Given the description of an element on the screen output the (x, y) to click on. 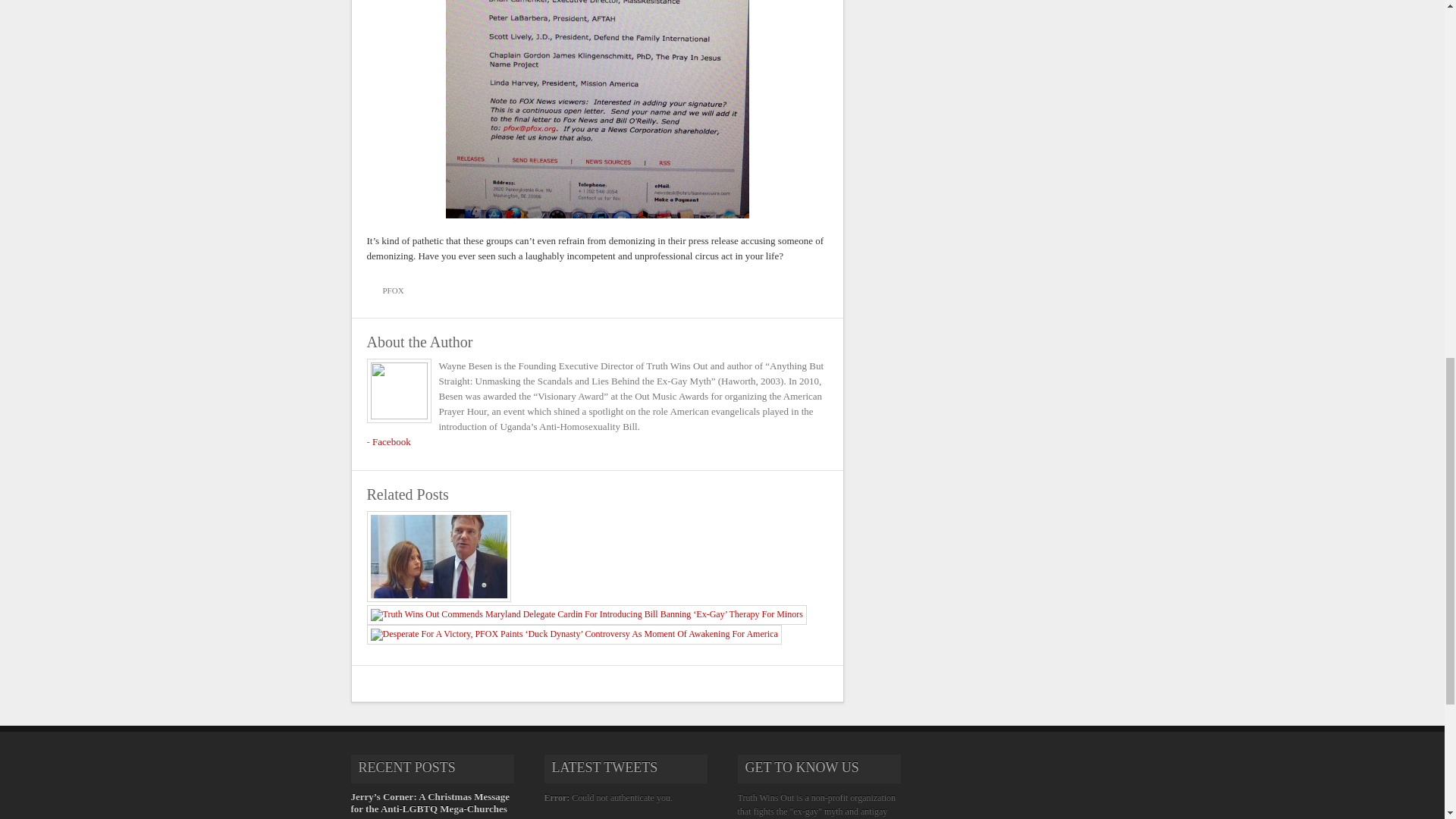
PFOX (389, 290)
Facebook (391, 441)
Screen new (597, 109)
